Given the description of an element on the screen output the (x, y) to click on. 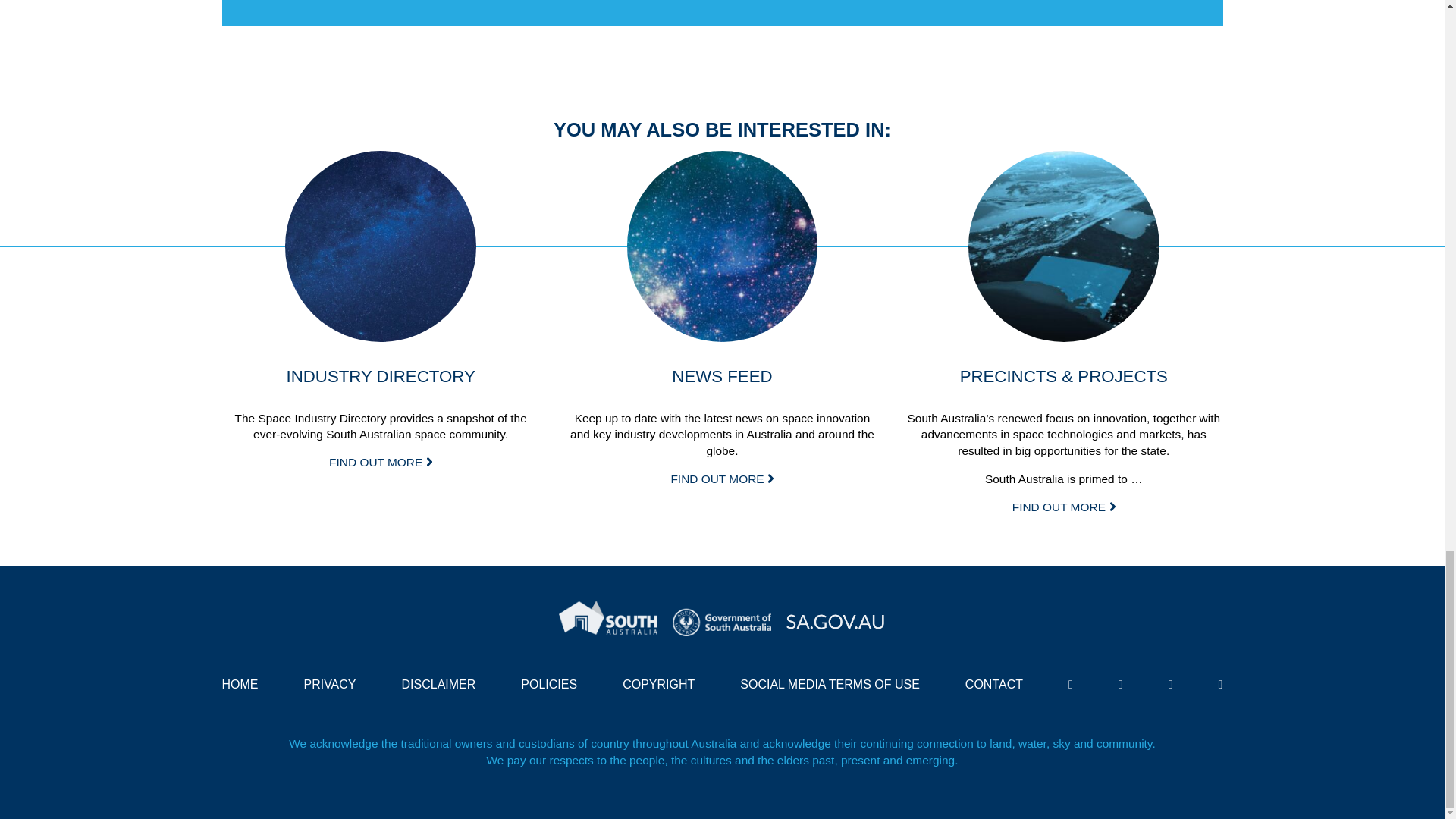
View: INDUSTRY DIRECTORY (380, 461)
View: News Feed (722, 246)
View: INDUSTRY DIRECTORY (380, 246)
South Australia White Logo (608, 618)
sa.gov.au logo (835, 618)
Government of South Australia Logo (721, 618)
View: News Feed (721, 478)
